Given the description of an element on the screen output the (x, y) to click on. 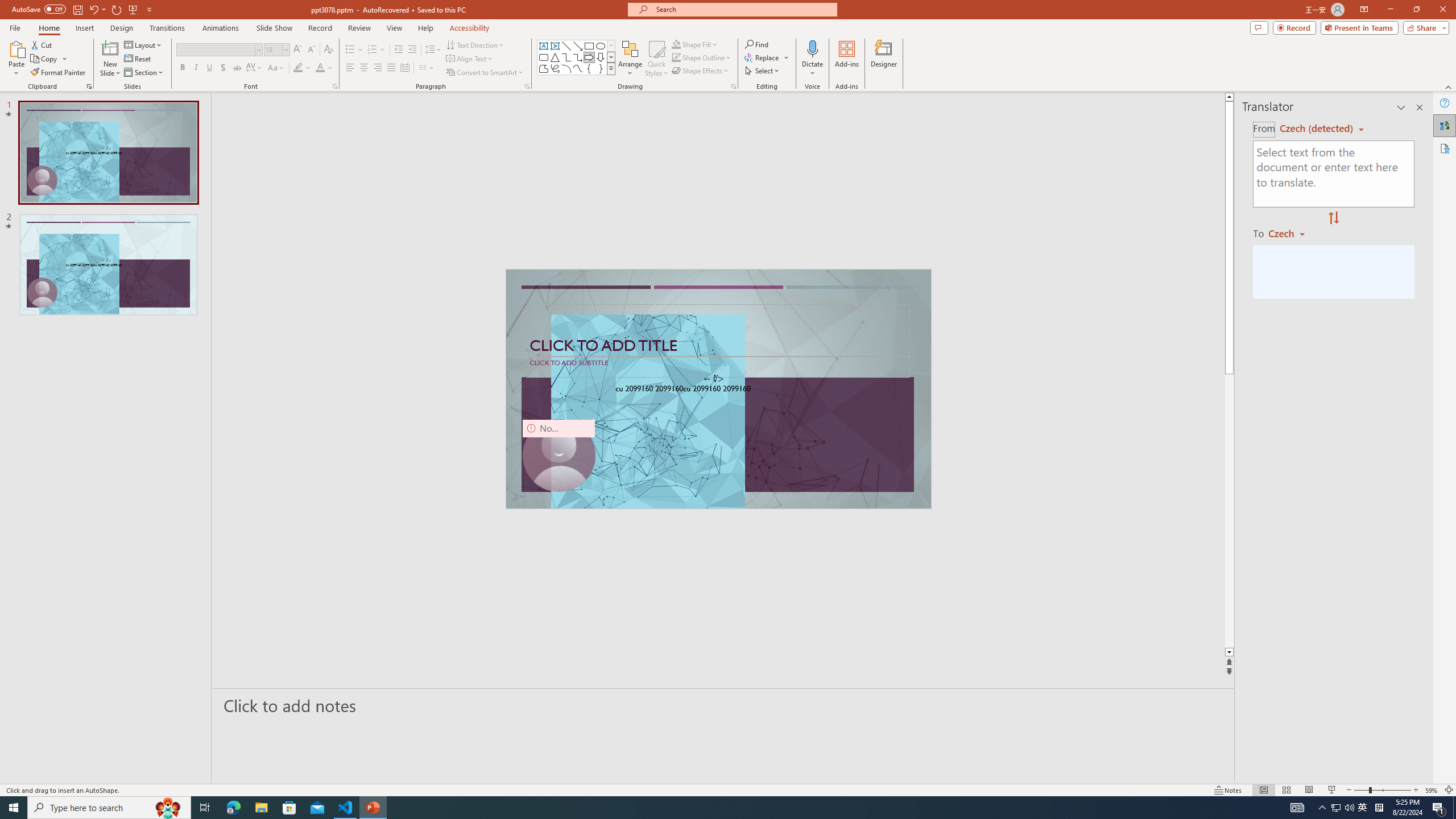
Title TextBox (717, 330)
Paragraph... (526, 85)
Align Left (349, 67)
Justify (390, 67)
Right Brace (600, 68)
Columns (426, 67)
